Given the description of an element on the screen output the (x, y) to click on. 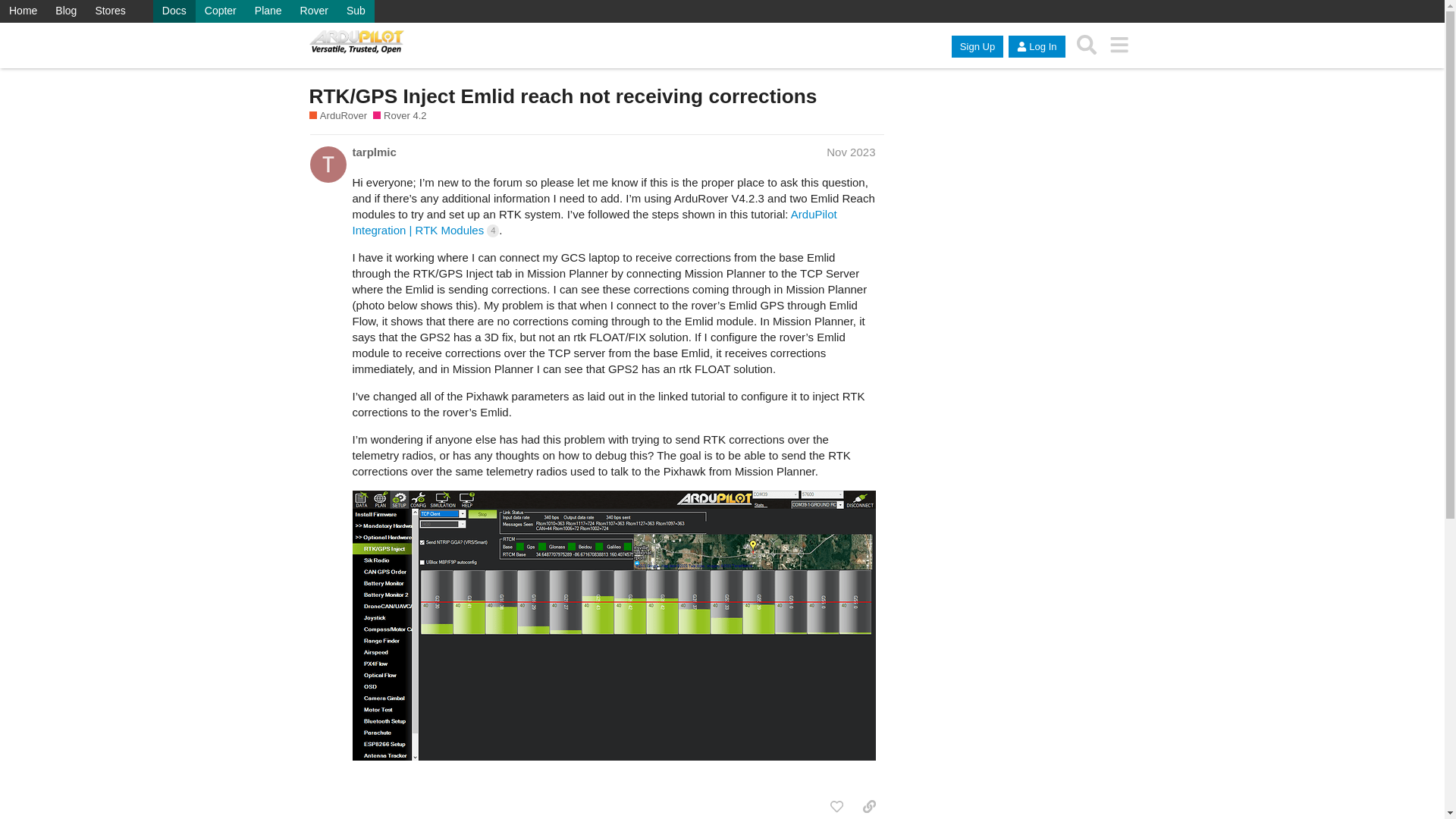
menu (1119, 44)
copy a link to this post to clipboard (869, 806)
Log In (1036, 46)
Plane (268, 11)
Rover 4.2 (399, 115)
Post date (851, 151)
Search (1086, 44)
Home (23, 11)
Stores (109, 11)
Sub (355, 11)
Rover (314, 11)
ArduRover (338, 115)
Nov 2023 (851, 151)
